Given the description of an element on the screen output the (x, y) to click on. 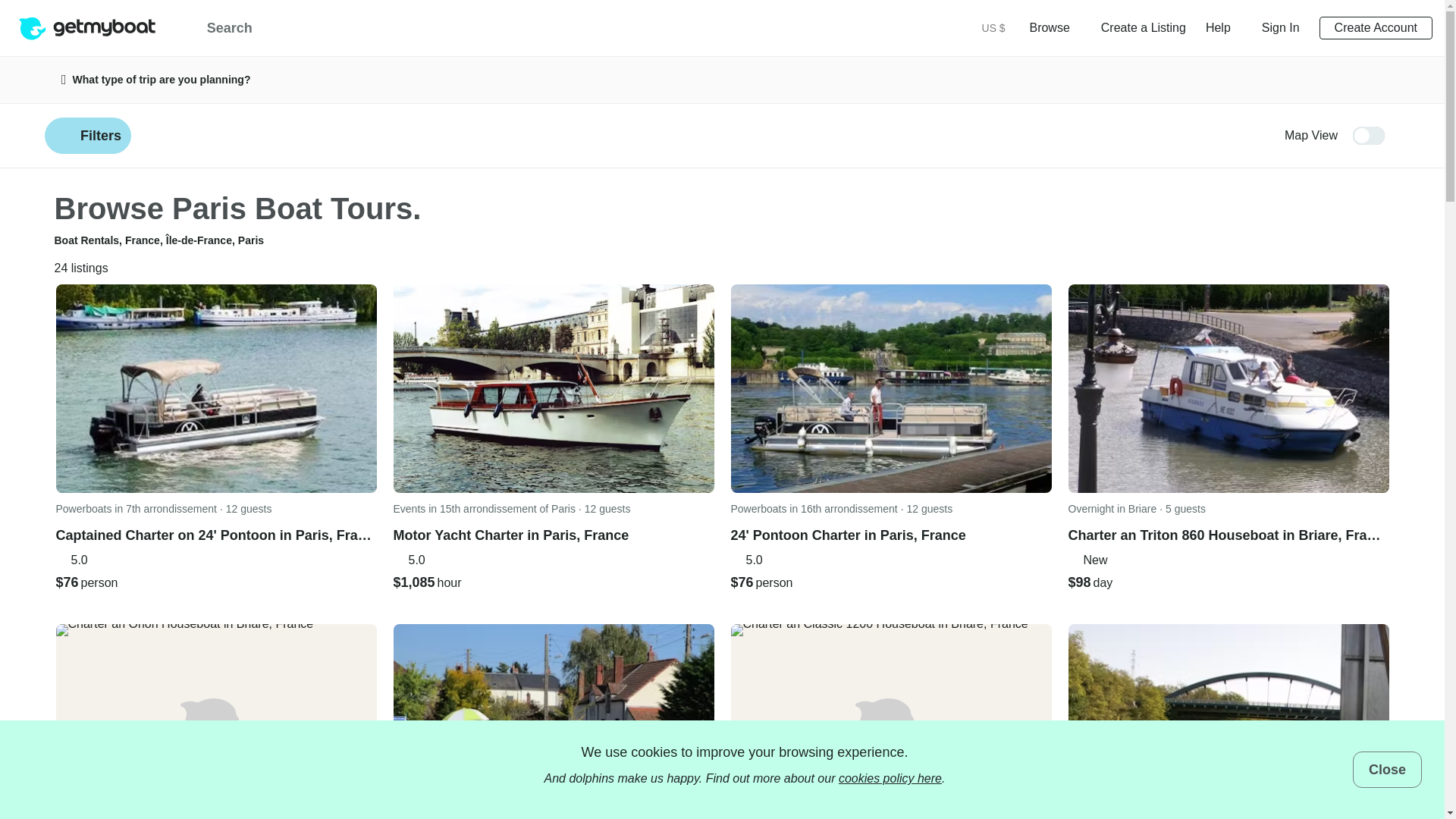
Boat Rentals (87, 240)
Close (1387, 769)
Create Account (1375, 27)
Browse (1054, 27)
Create a Listing (1143, 27)
France (142, 240)
cookies policy here (890, 778)
Help (1223, 27)
Filters (88, 135)
Sign In (1281, 27)
